Given the description of an element on the screen output the (x, y) to click on. 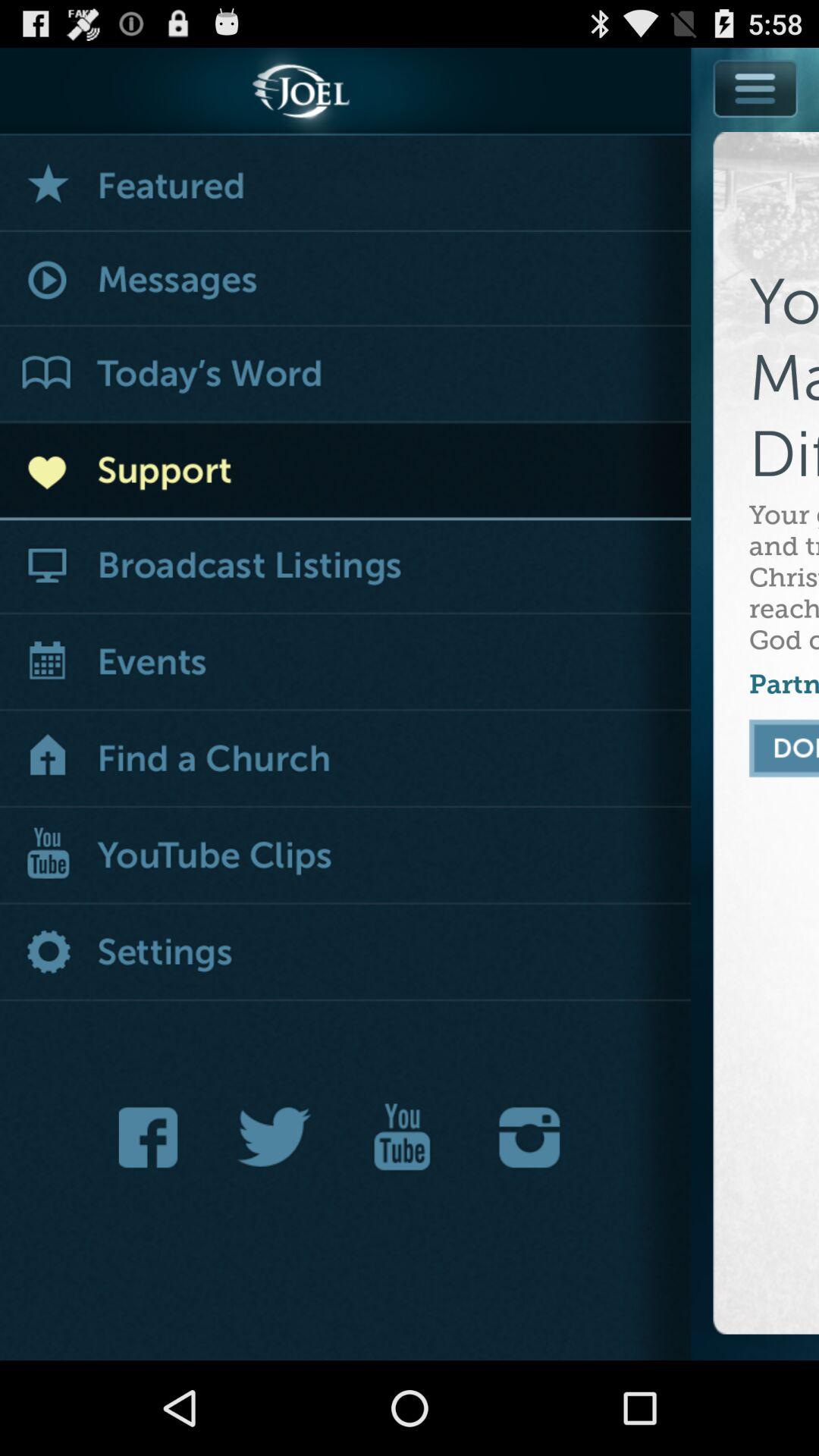
tap for article (345, 375)
